Given the description of an element on the screen output the (x, y) to click on. 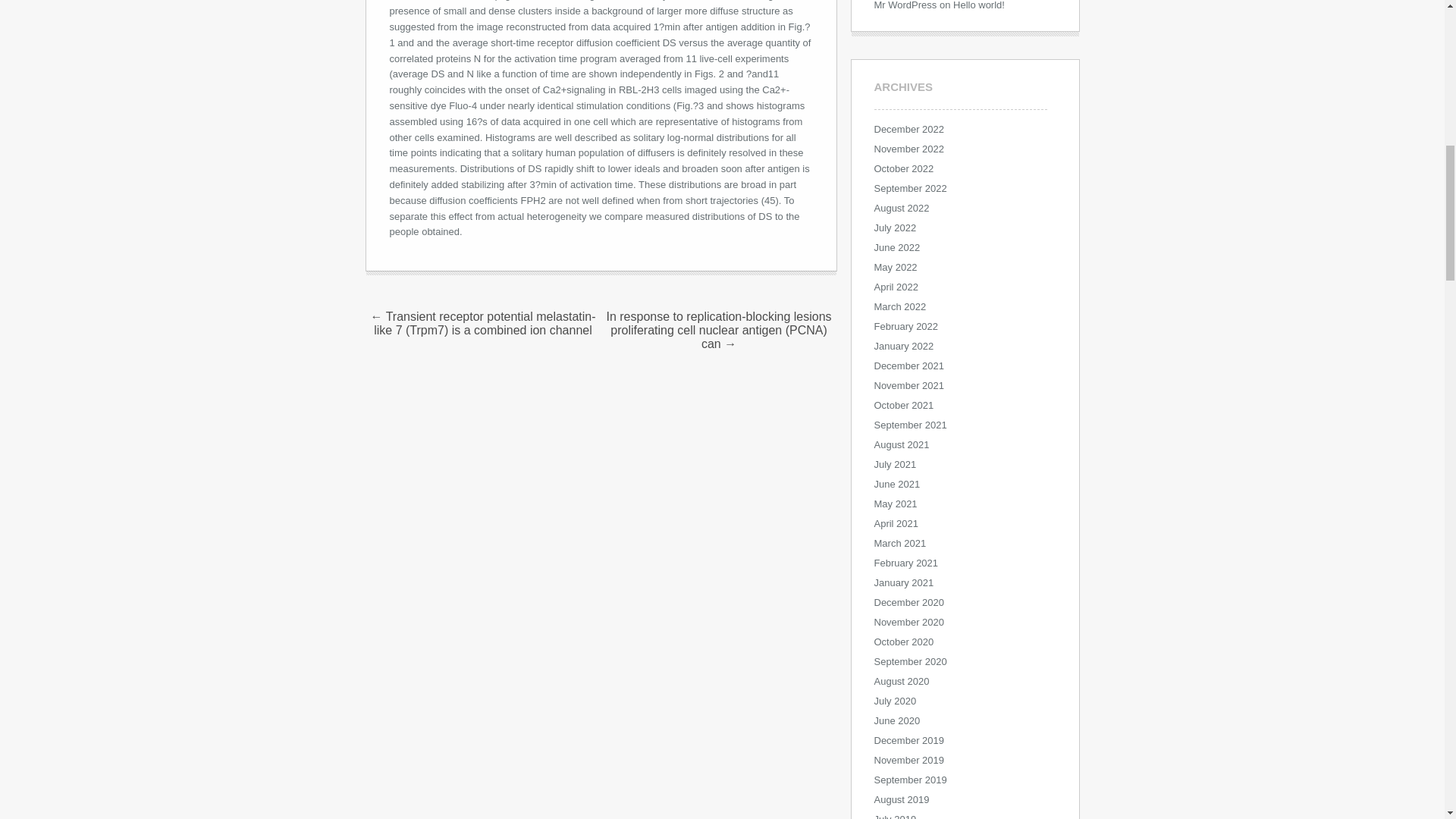
January 2022 (903, 345)
September 2021 (909, 423)
July 2022 (894, 226)
September 2022 (909, 187)
March 2022 (899, 306)
August 2021 (900, 443)
November 2022 (908, 147)
July 2021 (894, 463)
December 2021 (908, 365)
Mr WordPress (904, 5)
